Given the description of an element on the screen output the (x, y) to click on. 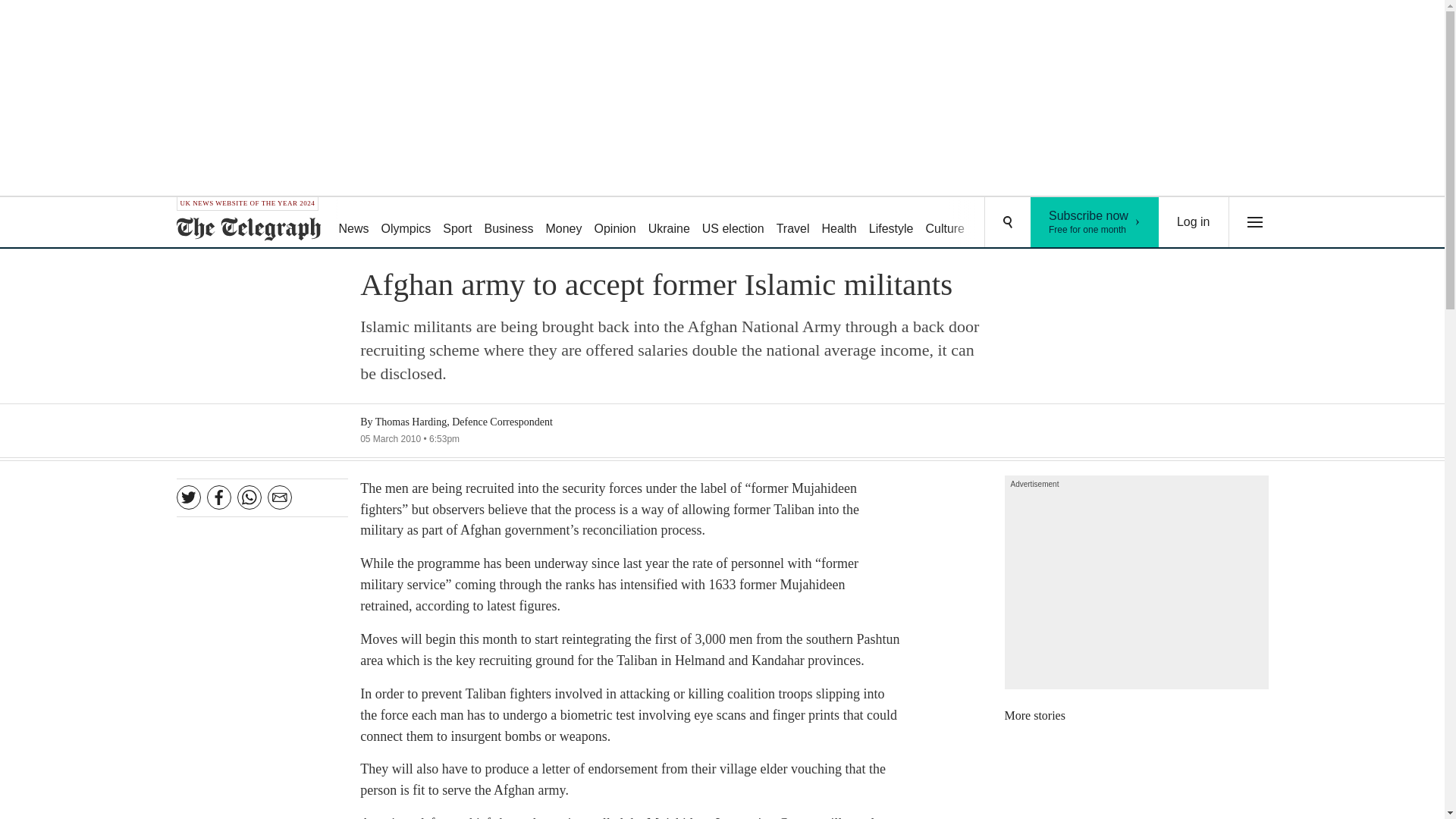
Puzzles (998, 223)
Culture (944, 223)
Opinion (615, 223)
US election (732, 223)
Health (838, 223)
Podcasts (1056, 223)
Olympics (406, 223)
Log in (1193, 222)
Money (563, 223)
Business (509, 223)
Travel (792, 223)
Ukraine (668, 223)
Lifestyle (891, 223)
